Given the description of an element on the screen output the (x, y) to click on. 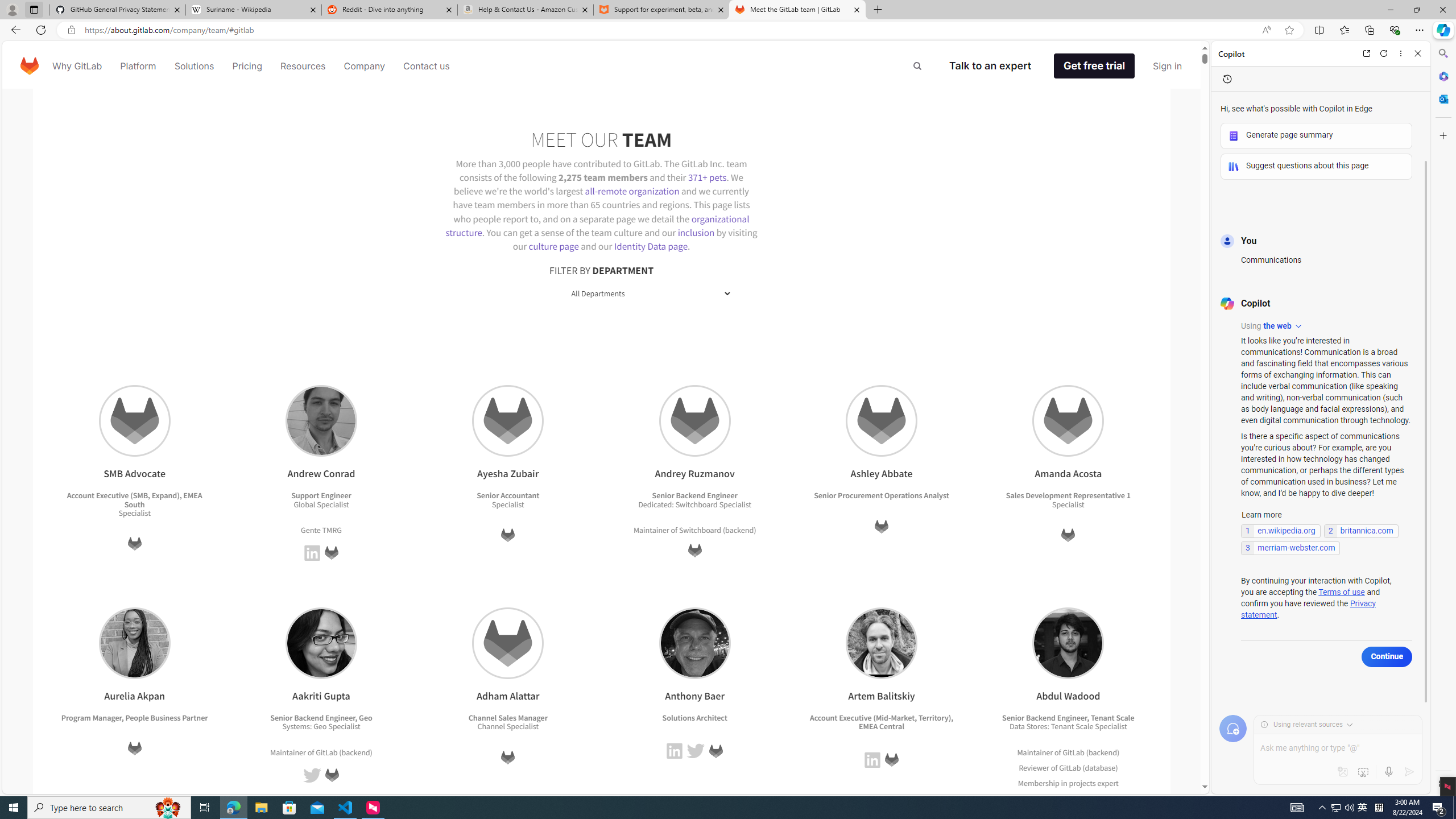
Maintainer of Switchboard (backend) (695, 529)
culture page (553, 246)
Pricing (246, 65)
Artem Balitskiy (881, 642)
Solutions (193, 65)
Membership in projects (1056, 782)
Adham Alattar (507, 642)
Anthony Baer (695, 642)
Support Engineer (320, 495)
Maintainer (1034, 751)
Adham Alattar (508, 642)
Why GitLab (77, 65)
Sign in (1167, 65)
